Given the description of an element on the screen output the (x, y) to click on. 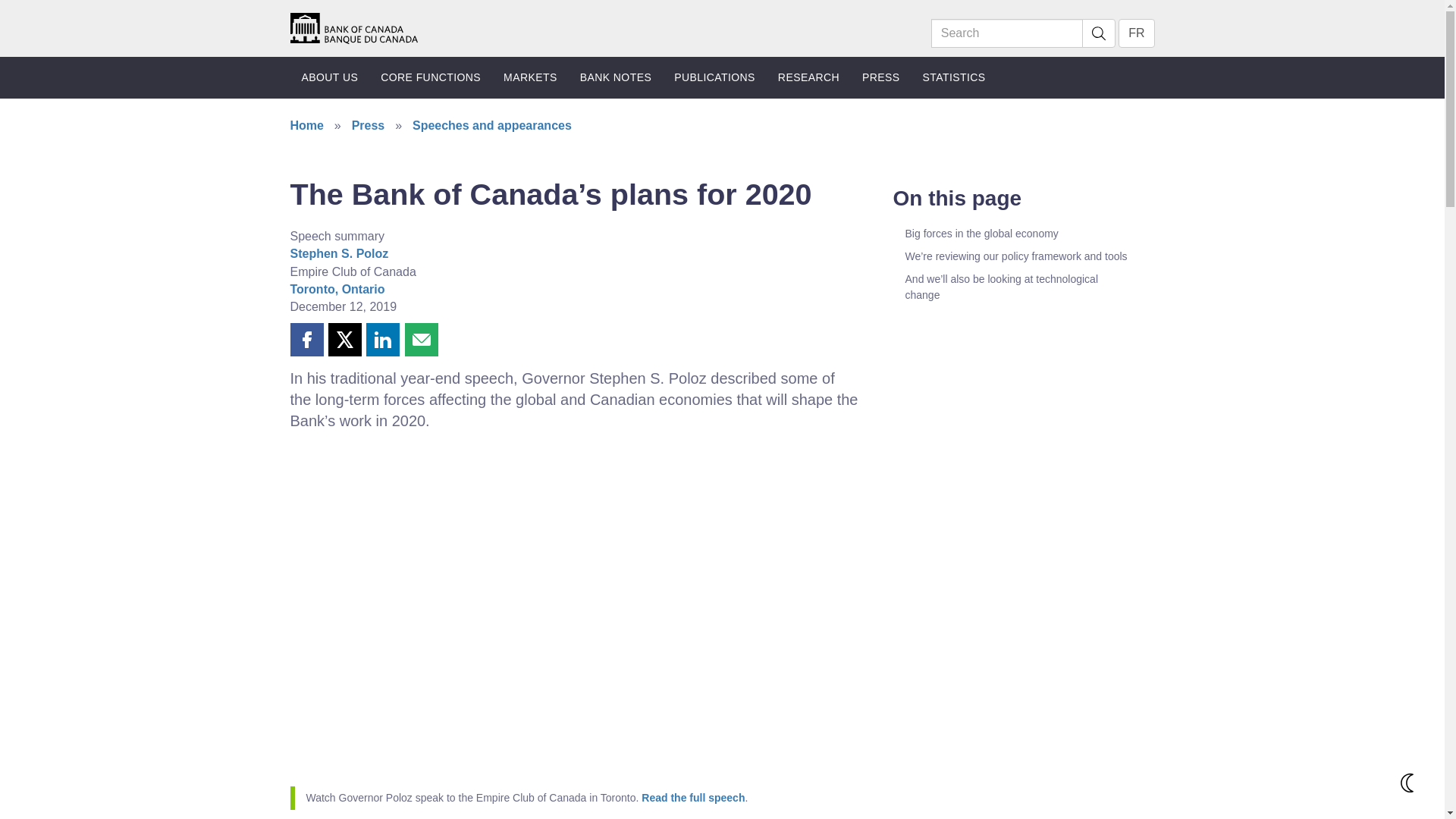
CORE FUNCTIONS (430, 77)
MARKETS (530, 77)
Home (352, 27)
Home (352, 27)
Search (1007, 32)
Search (1098, 32)
Big forces in the global economy (1017, 232)
Share this page on LinkedIn (382, 339)
Share this page on X (345, 339)
Share this page on Facebook (306, 339)
